Given the description of an element on the screen output the (x, y) to click on. 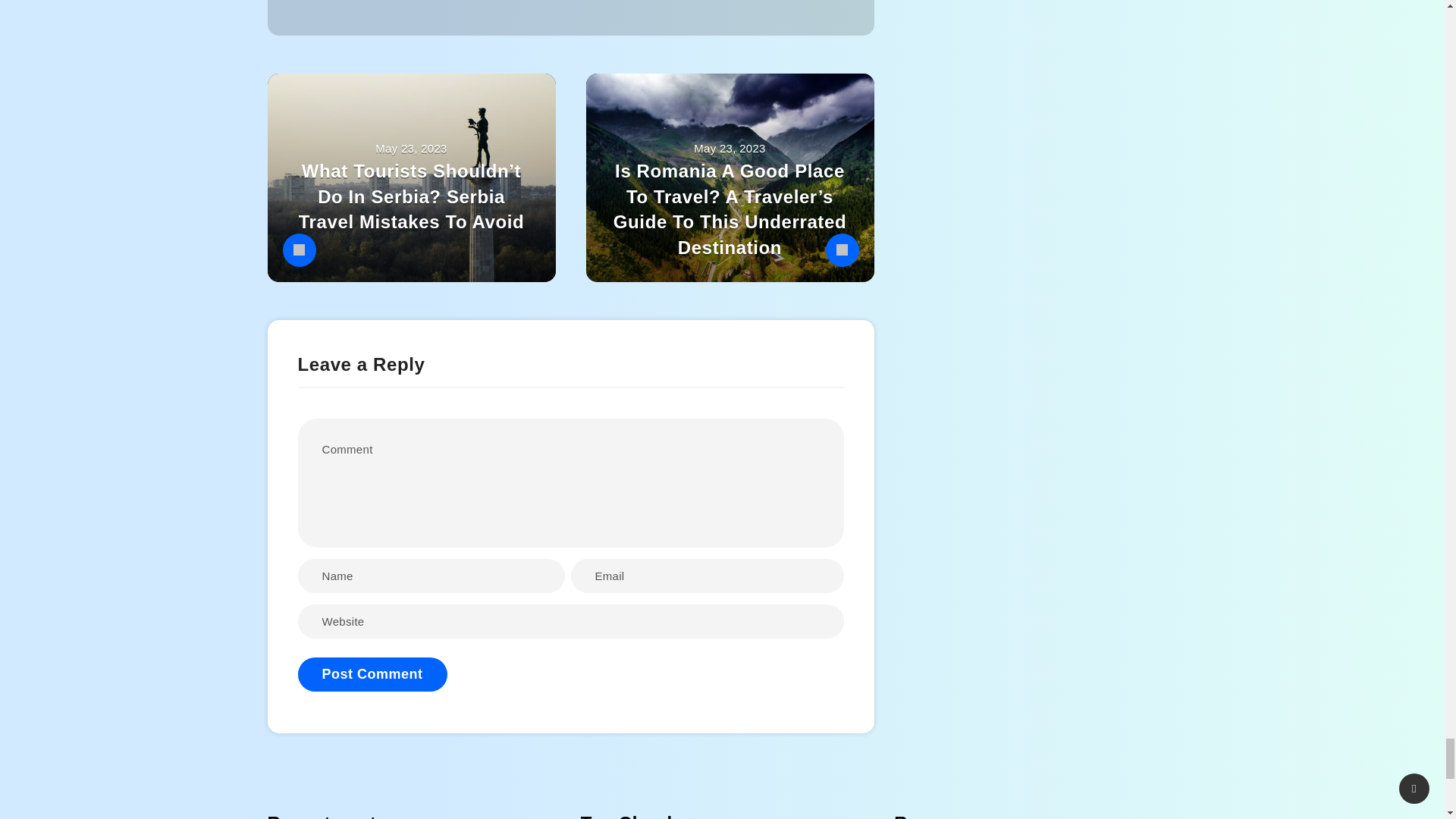
Post Comment (371, 674)
